Given the description of an element on the screen output the (x, y) to click on. 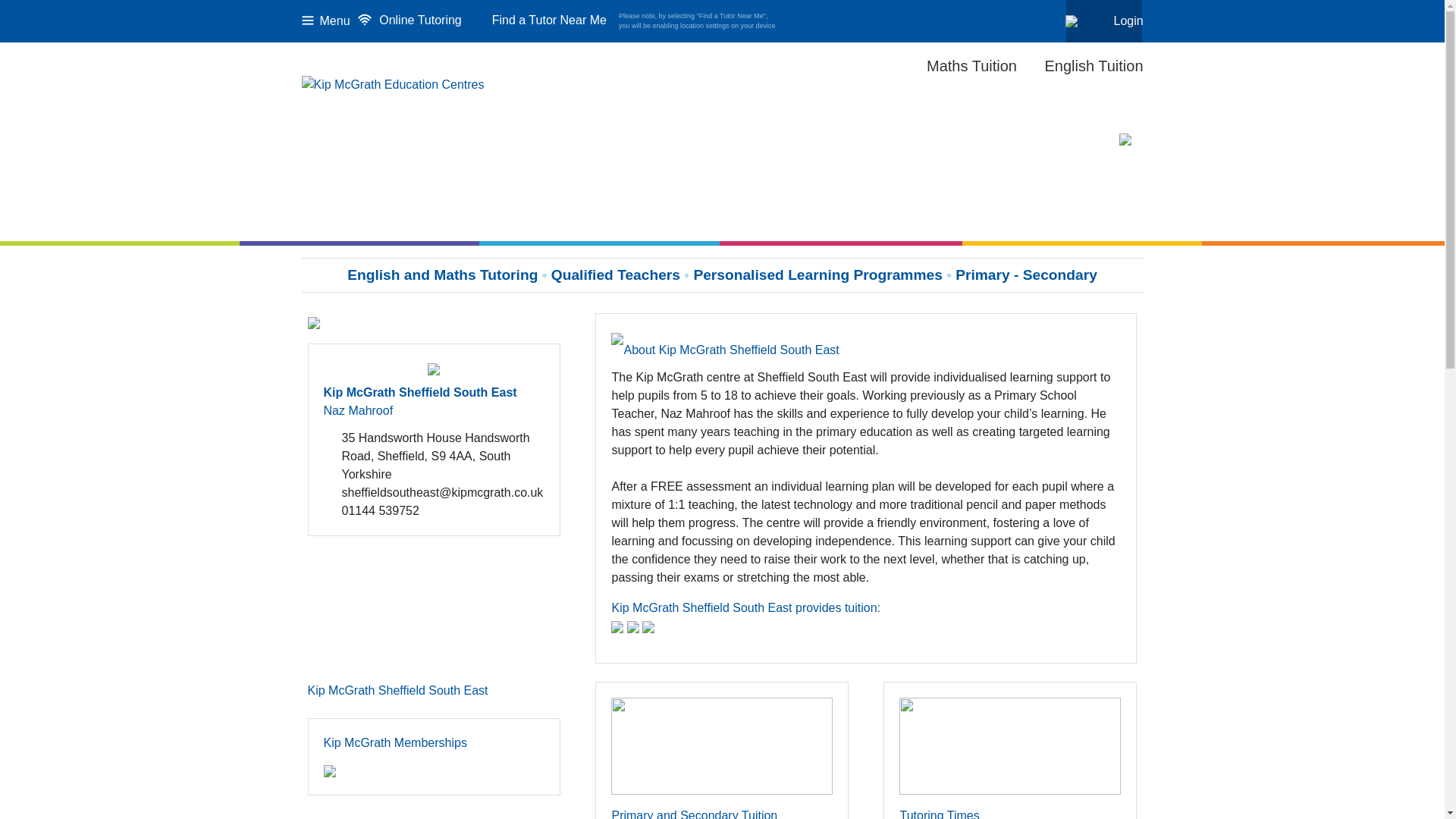
01144 539752 (433, 511)
Maths Tuition (971, 66)
Find a Tutor Near Me (537, 19)
Menu (325, 20)
Online Tutoring (408, 20)
English Tuition (1092, 66)
